Given the description of an element on the screen output the (x, y) to click on. 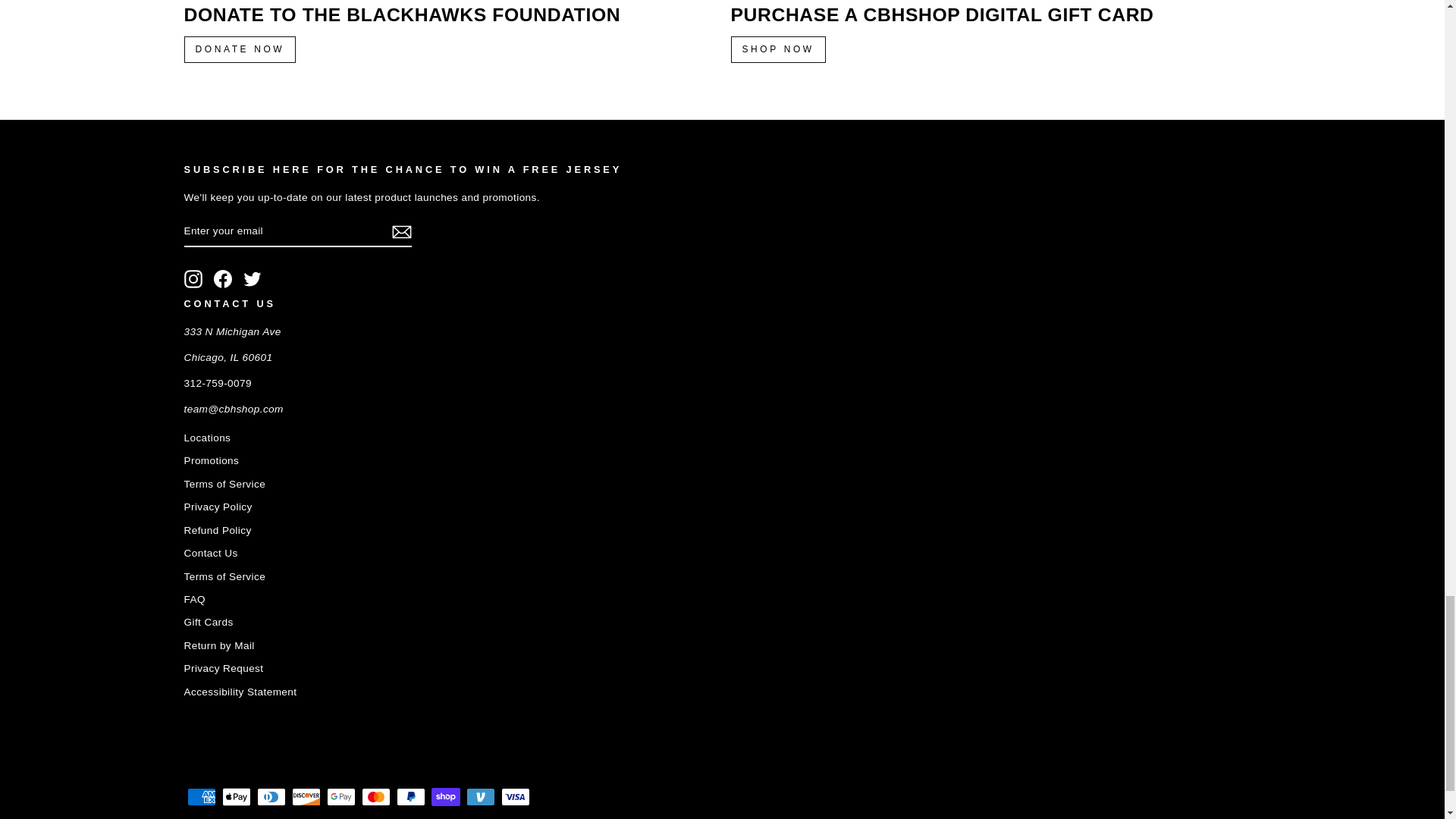
CBH Shop on Twitter (251, 279)
CBH Shop on Instagram (192, 279)
CBH Shop on Facebook (222, 279)
icon-email (400, 231)
